Given the description of an element on the screen output the (x, y) to click on. 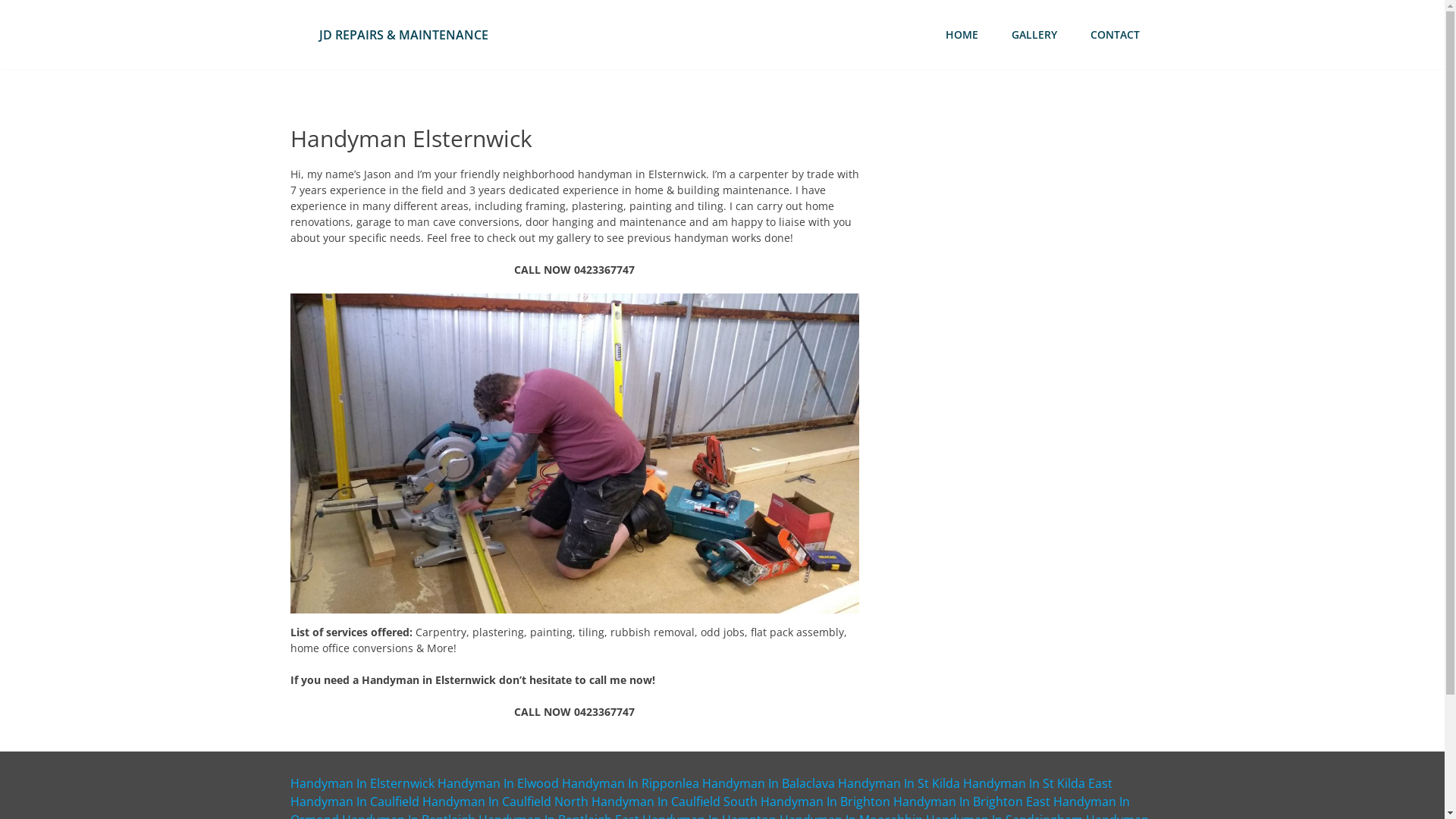
Handyman In St Kilda Element type: text (898, 783)
Handyman In St Kilda East Element type: text (1037, 783)
Handyman In Caulfield South Element type: text (674, 801)
JD REPAIRS & MAINTENANCE Element type: text (403, 33)
Handyman In Balaclava Element type: text (768, 783)
GALLERY Element type: text (1034, 34)
Handyman In Brighton Element type: text (824, 801)
Handyman In Ripponlea Element type: text (629, 783)
Handyman In Brighton East Element type: text (971, 801)
Handyman In Elwood Element type: text (497, 783)
HOME Element type: text (960, 34)
Handyman In Caulfield North Element type: text (504, 801)
Handyman In Elsternwick Element type: text (361, 783)
Handyman In Caulfield Element type: text (353, 801)
CONTACT Element type: text (1114, 34)
